Given the description of an element on the screen output the (x, y) to click on. 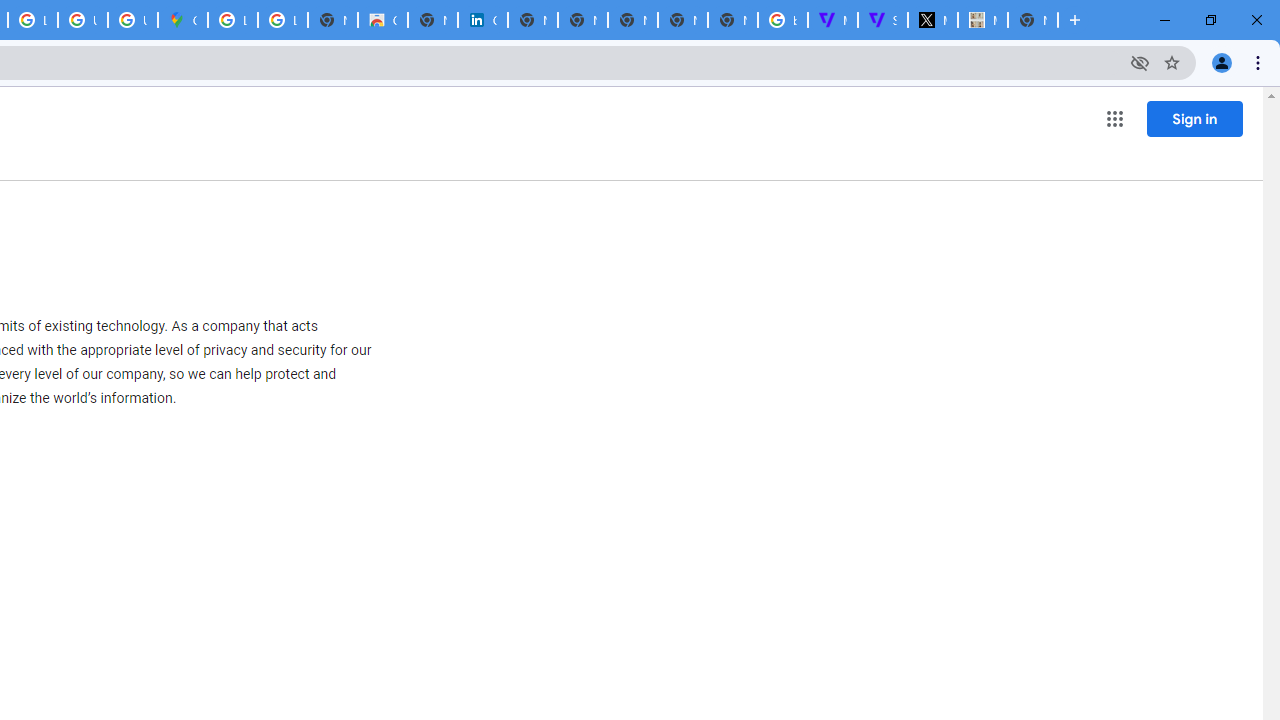
Streaming - The Verge (882, 20)
